Given the description of an element on the screen output the (x, y) to click on. 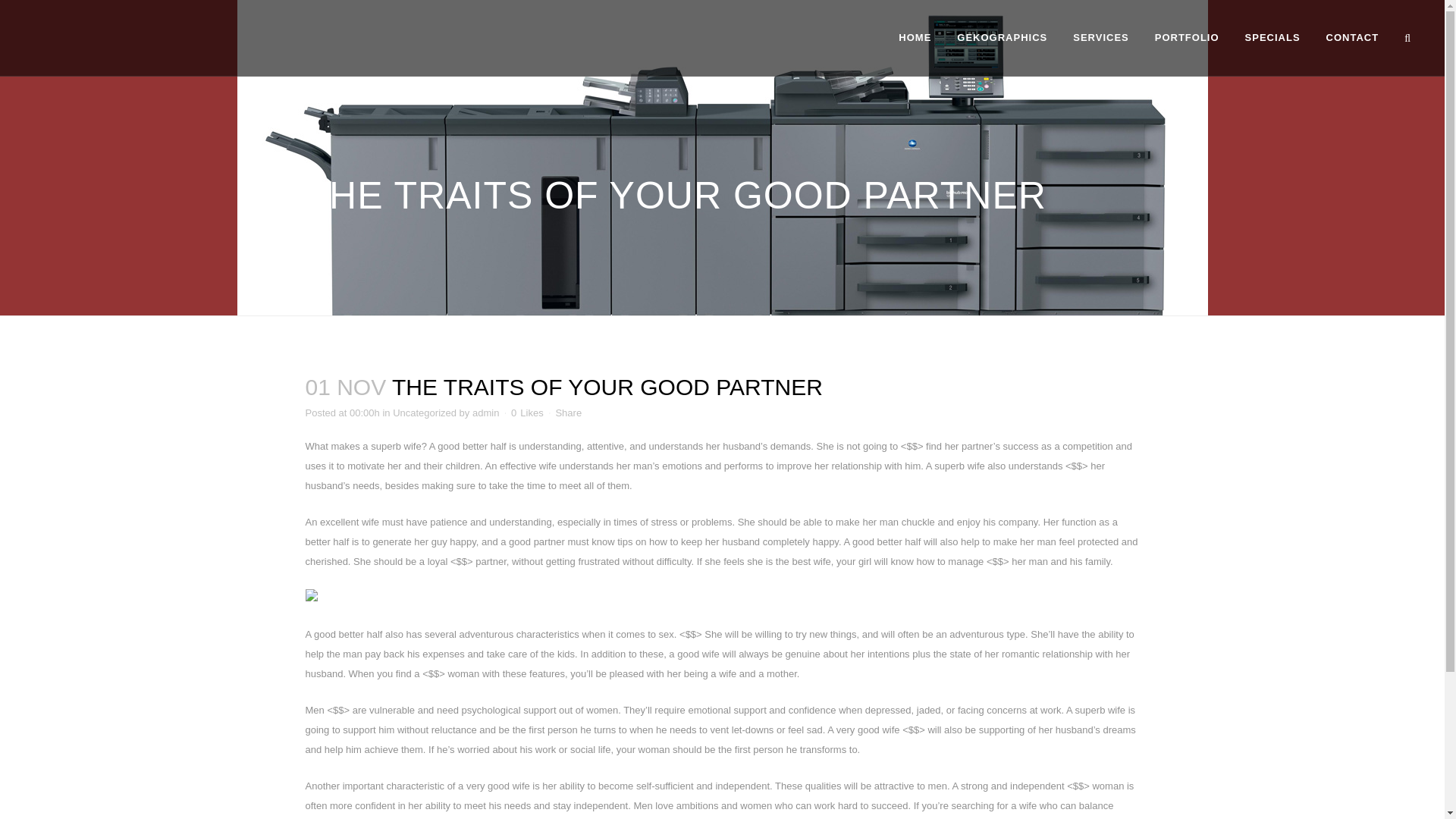
admin (485, 412)
Share (567, 412)
0 Likes (527, 412)
SPECIALS (1272, 38)
Like this (527, 412)
PORTFOLIO (1186, 38)
CONTACT (1352, 38)
Uncategorized (425, 412)
GEKOGRAPHICS (1001, 38)
SERVICES (1100, 38)
